Given the description of an element on the screen output the (x, y) to click on. 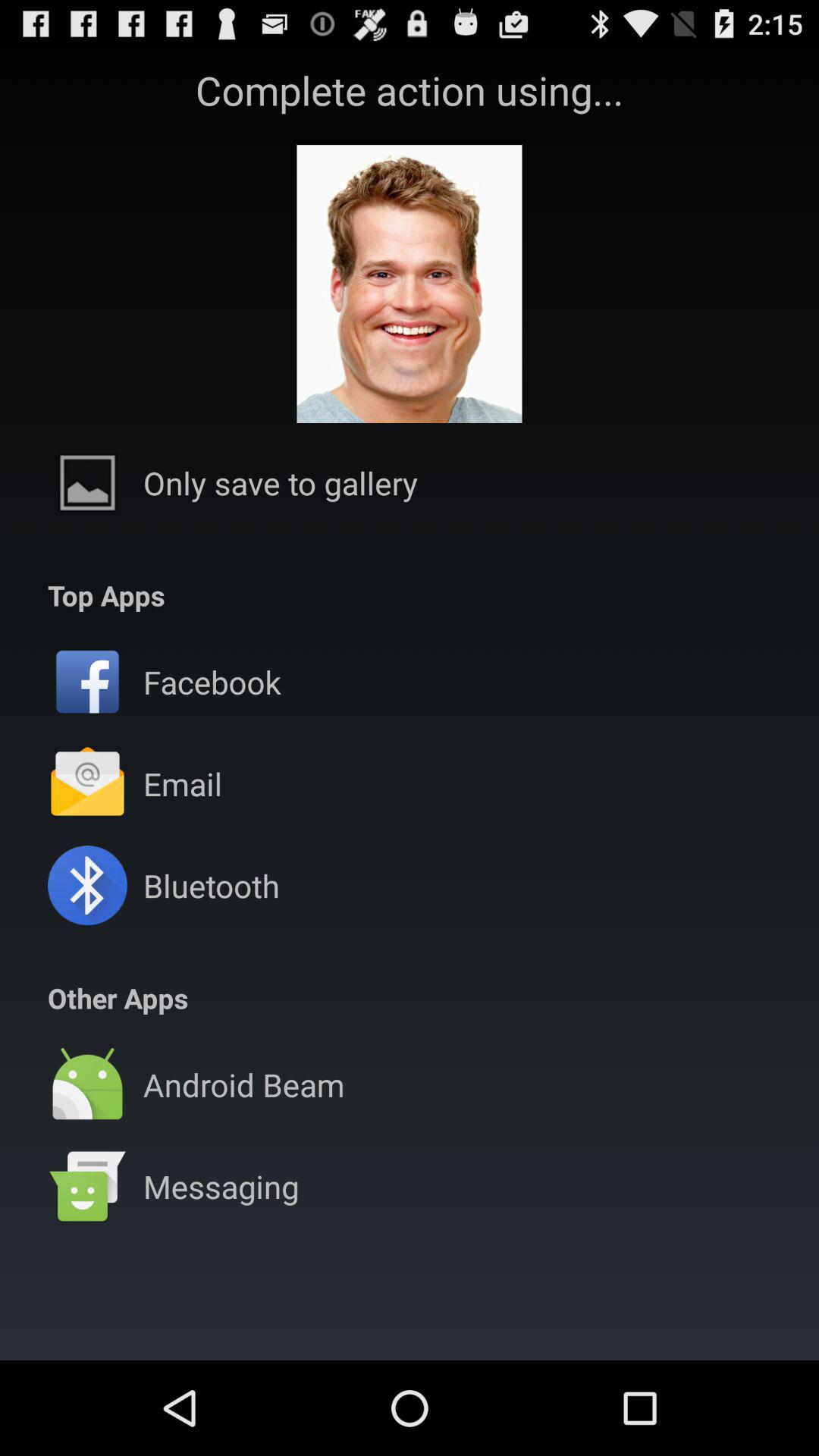
scroll to only save to (280, 482)
